Given the description of an element on the screen output the (x, y) to click on. 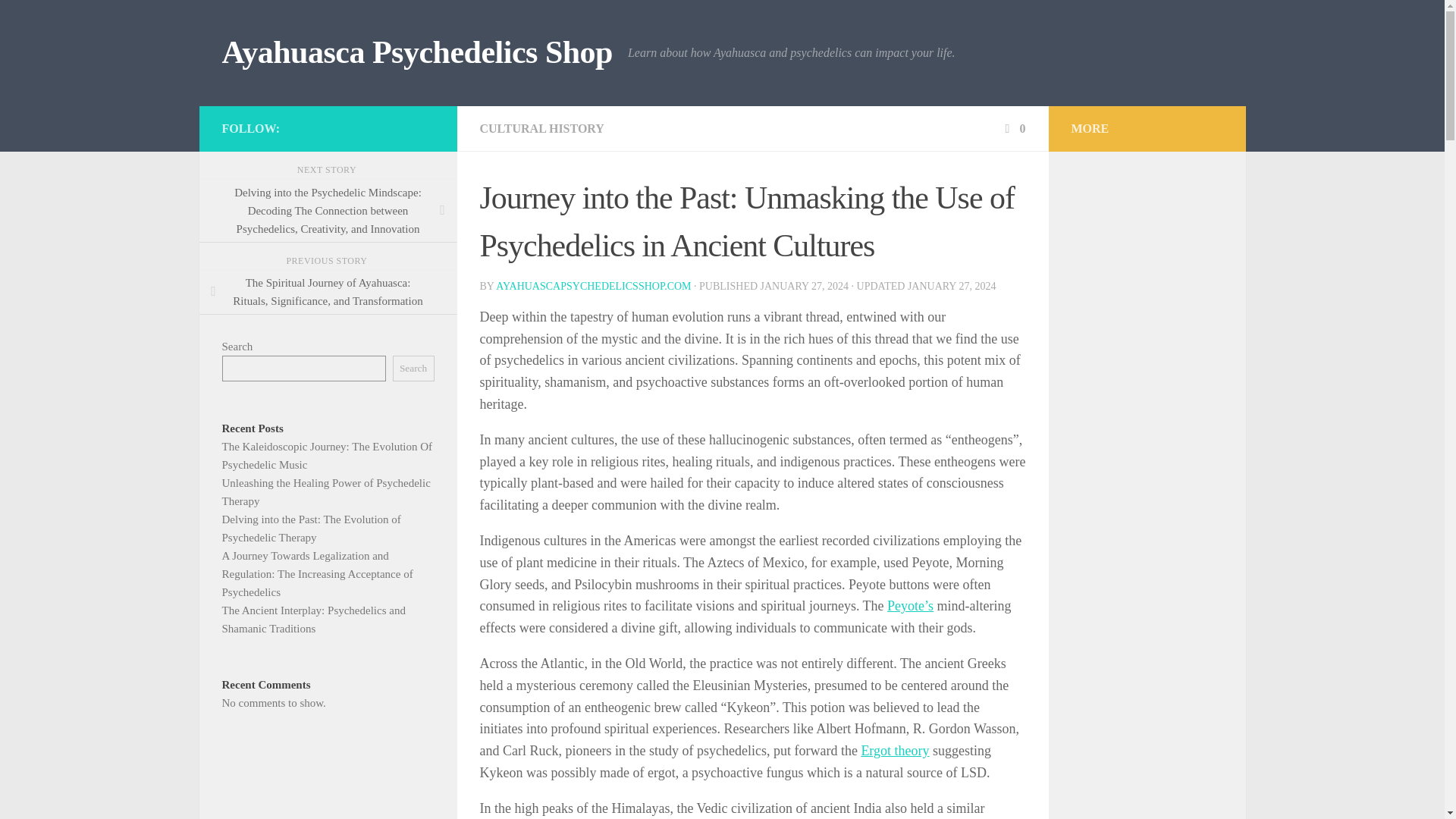
Ayahuasca Psychedelics Shop (416, 53)
Ergot theory (894, 750)
CULTURAL HISTORY (541, 128)
Posts by ayahuascapsychedelicsshop.com (593, 285)
AYAHUASCAPSYCHEDELICSSHOP.COM (593, 285)
0 (1013, 128)
Skip to content (59, 20)
